Given the description of an element on the screen output the (x, y) to click on. 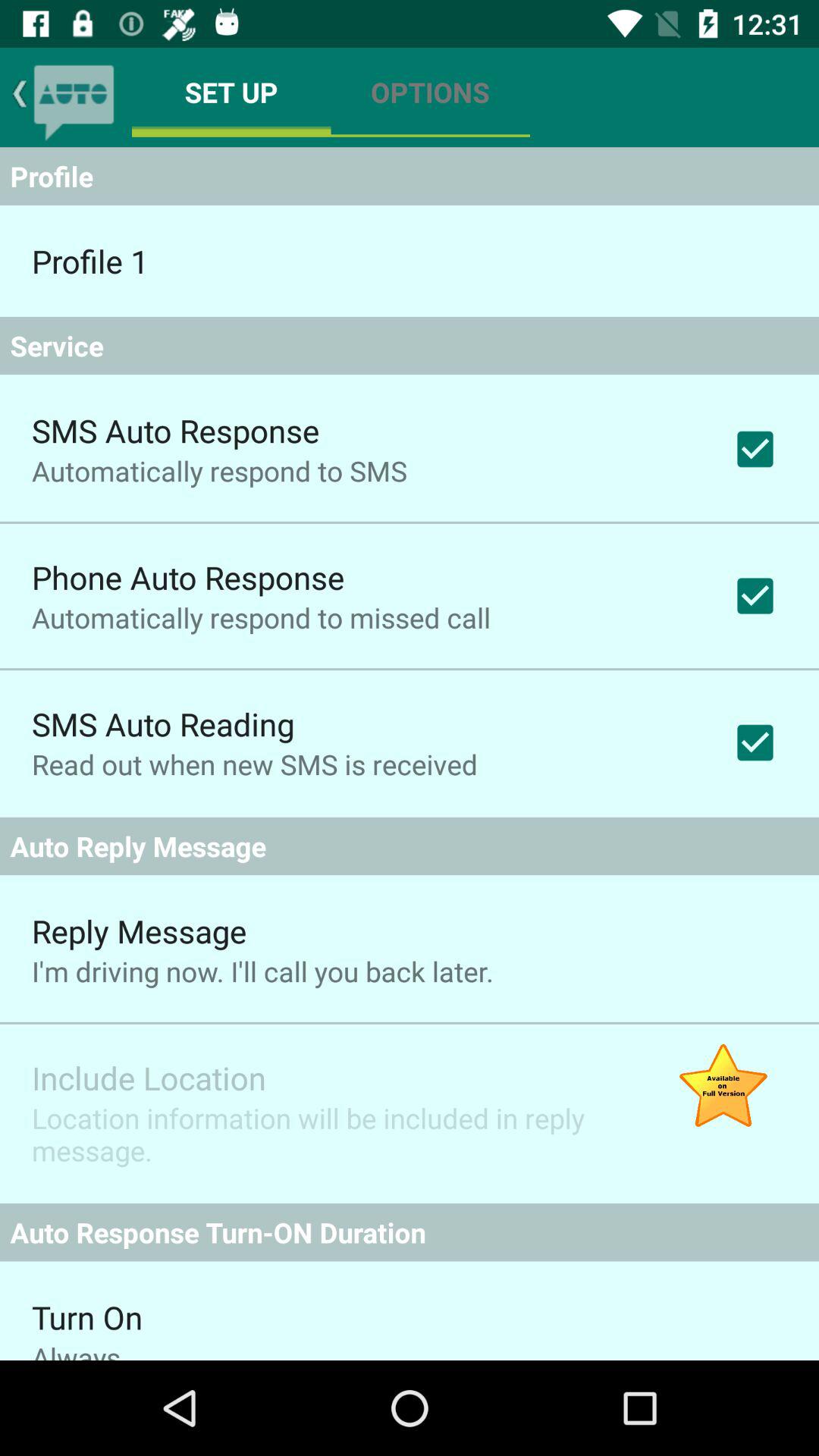
scroll to service icon (409, 345)
